Given the description of an element on the screen output the (x, y) to click on. 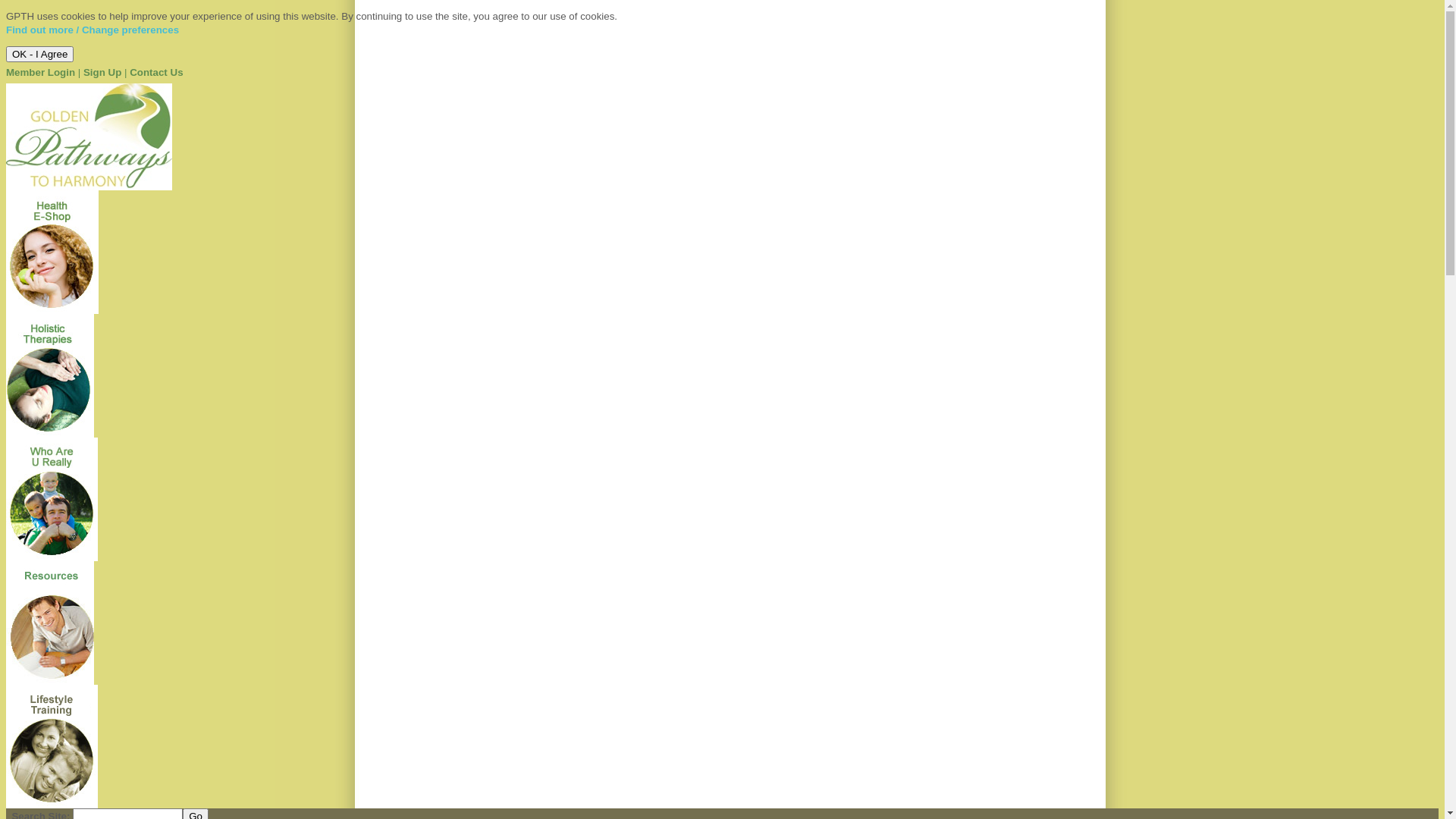
Holistic Therapies Element type: hover (50, 433)
Member Login Element type: text (40, 72)
Contact Us Element type: text (155, 72)
OK - I Agree Element type: text (39, 54)
Who Are U Really Element type: hover (51, 557)
Lifestyle Element type: hover (51, 804)
Sign Up Element type: text (102, 72)
Find out more / Change preferences Element type: text (92, 29)
Health Element type: hover (52, 310)
Education Element type: hover (50, 681)
